Given the description of an element on the screen output the (x, y) to click on. 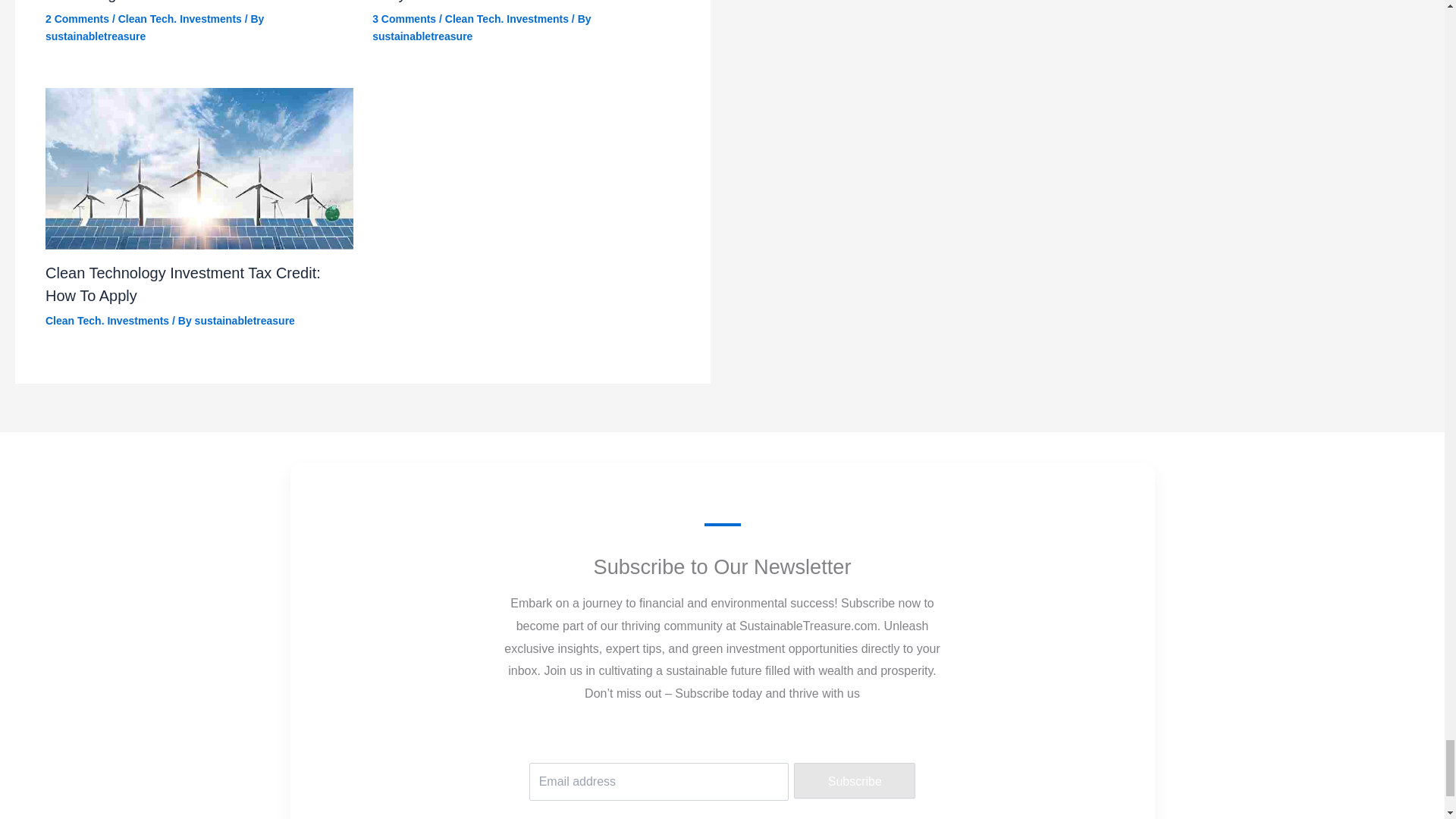
View all posts by sustainabletreasure (95, 36)
3 Comments (403, 19)
sustainabletreasure (95, 36)
Clean Technology Investment Tax Credit: How To Apply (182, 283)
Clean Tech. Investments (106, 320)
View all posts by sustainabletreasure (421, 36)
Clean Tech. Investments (507, 19)
View all posts by sustainabletreasure (245, 320)
2 Comments (77, 19)
